Given the description of an element on the screen output the (x, y) to click on. 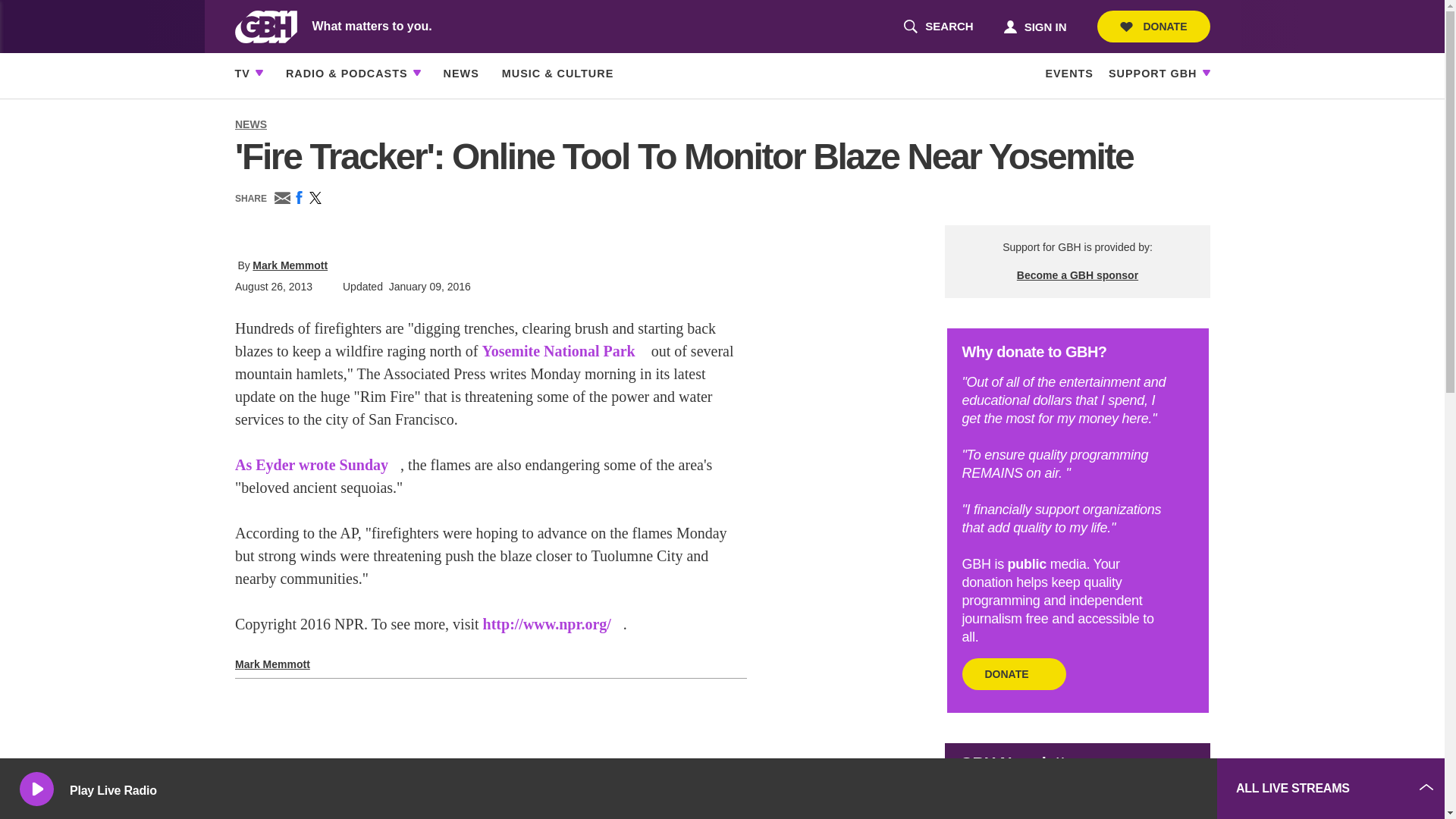
SIGN IN (1034, 25)
DONATE (1153, 26)
